Given the description of an element on the screen output the (x, y) to click on. 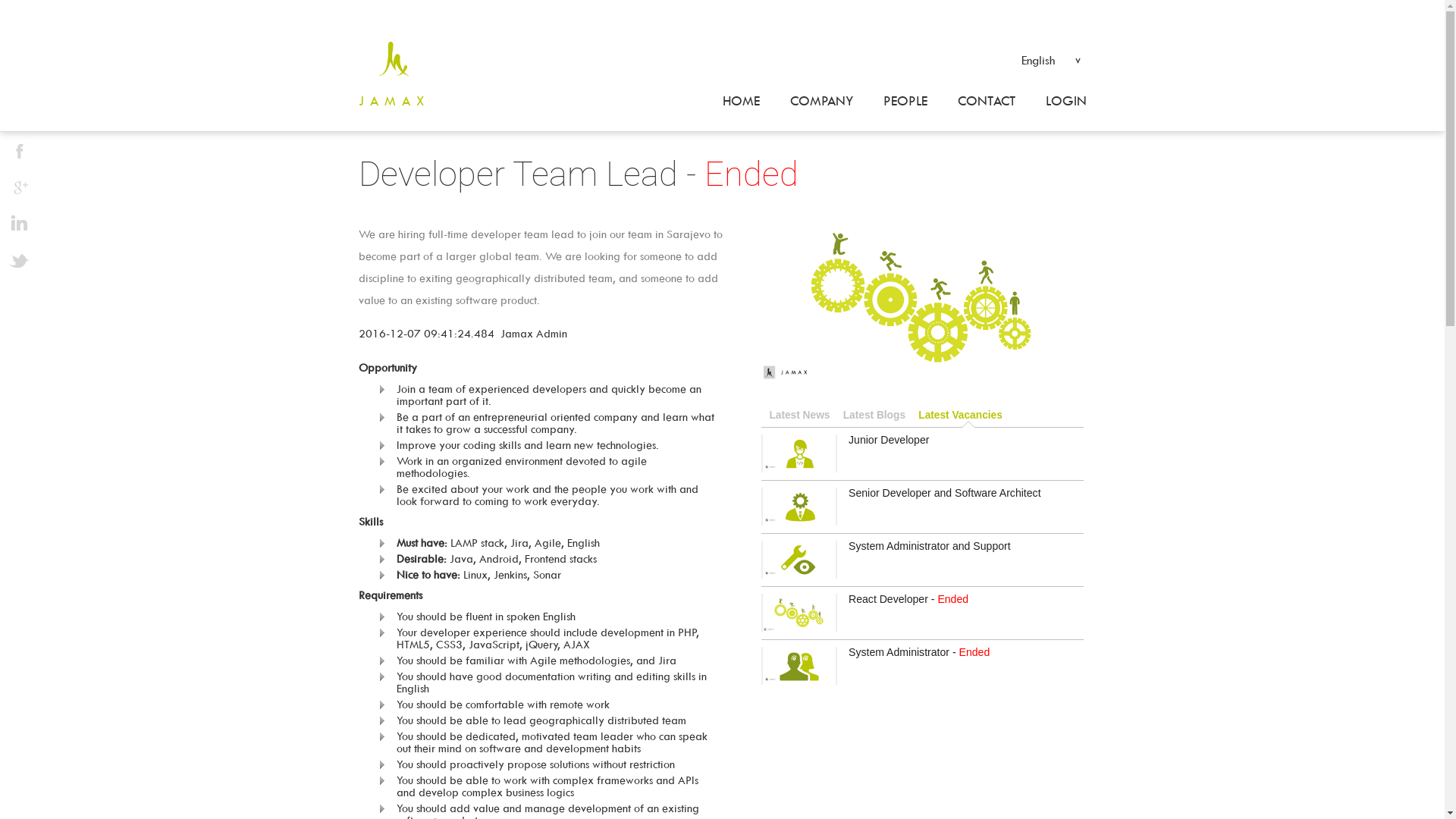
Latest News Element type: text (799, 415)
JAMAX Element type: text (400, 100)
English Element type: text (1049, 58)
LOGIN Element type: text (1057, 100)
Share on Facebook Element type: hover (18, 150)
Latest Blogs Element type: text (873, 415)
PEOPLE Element type: text (904, 100)
Latest Vacancies Element type: text (960, 415)
HOME Element type: text (740, 100)
CONTACT Element type: text (985, 100)
Share on LinkedIn Element type: hover (18, 223)
Share on Twitter Element type: hover (18, 259)
Share on Google+ Element type: hover (18, 187)
COMPANY Element type: text (821, 100)
